Given the description of an element on the screen output the (x, y) to click on. 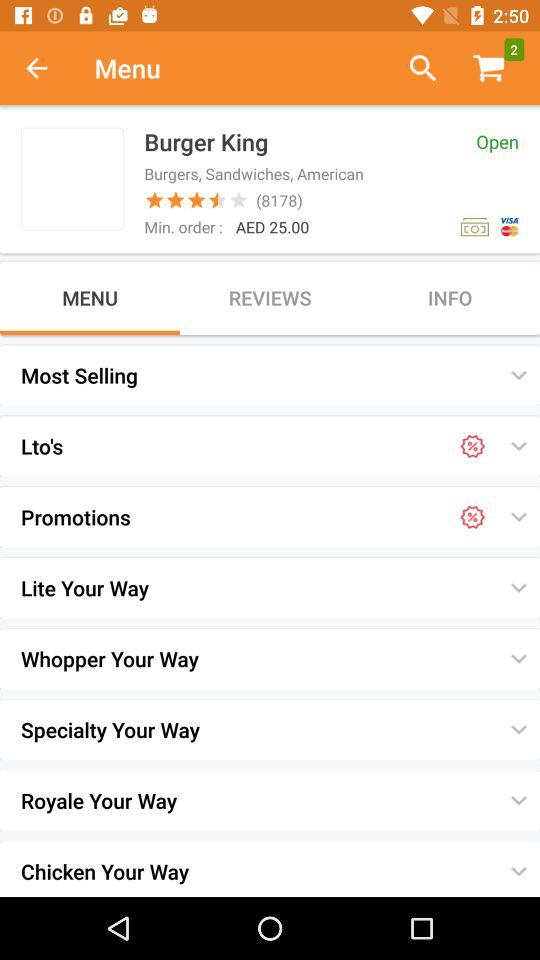
select icon to the right of the menu (414, 68)
